Given the description of an element on the screen output the (x, y) to click on. 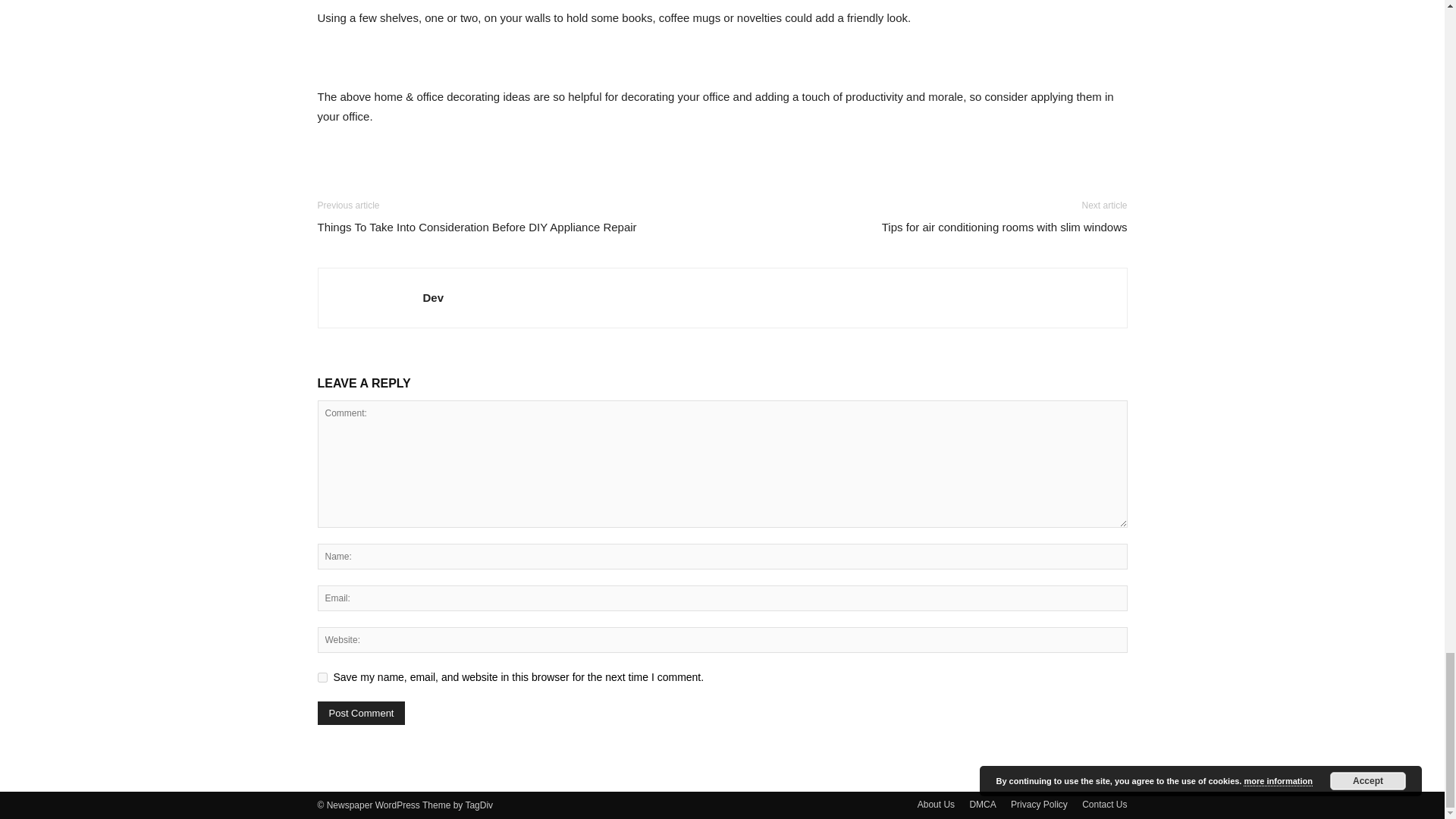
Tips for air conditioning rooms with slim windows (1004, 227)
Privacy Policy (1038, 804)
Dev (433, 297)
Post Comment (360, 712)
DMCA (982, 804)
yes (321, 677)
About Us (936, 804)
Contact Us (1103, 804)
Post Comment (360, 712)
